Given the description of an element on the screen output the (x, y) to click on. 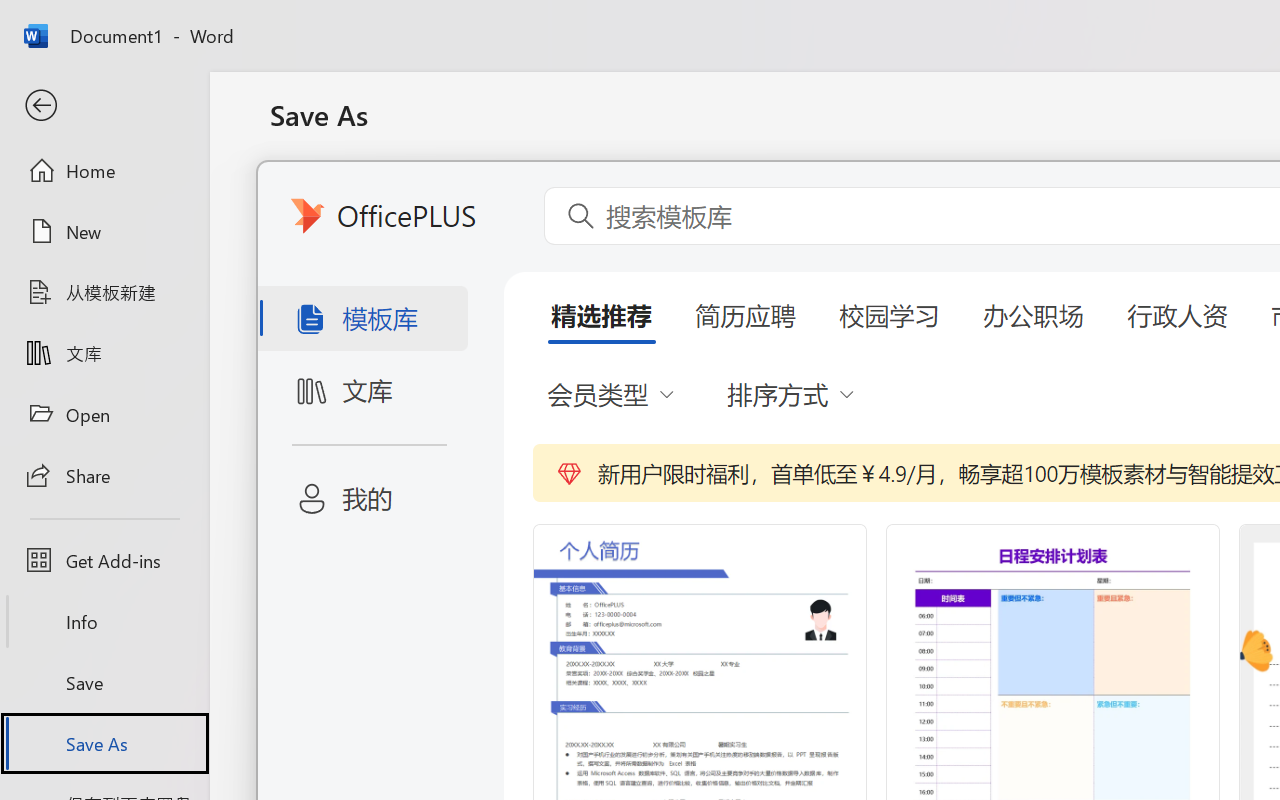
Browse (481, 733)
Info (104, 621)
Add a Place (481, 661)
Get Add-ins (104, 560)
Recent (481, 197)
Save As (104, 743)
New (104, 231)
